Given the description of an element on the screen output the (x, y) to click on. 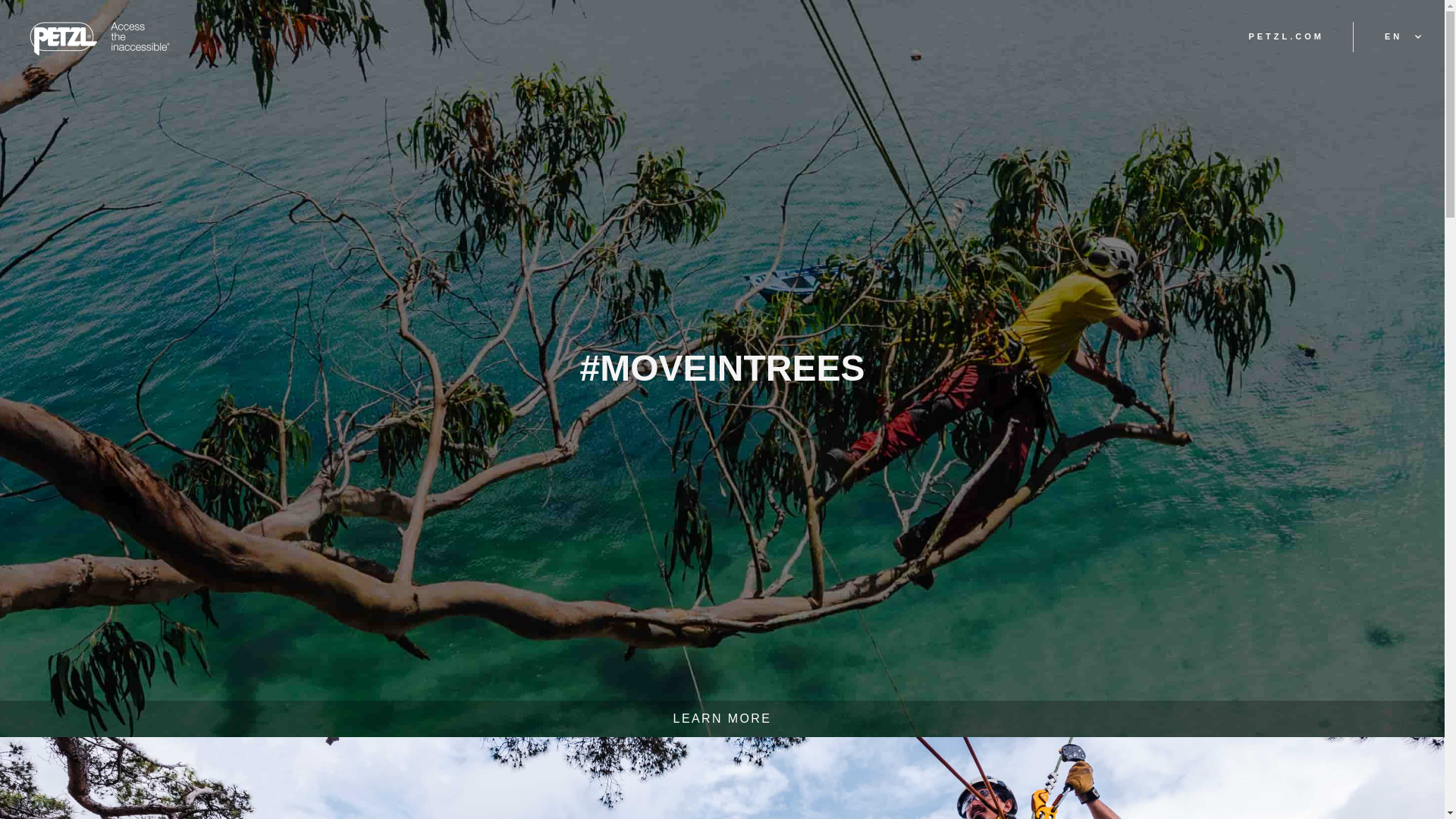
FOLLOW US (998, 755)
TECH TIPS (624, 755)
SRT SOLUTION (452, 755)
PETZL.COM (1285, 35)
PRODUCT CATALOG (810, 755)
